Given the description of an element on the screen output the (x, y) to click on. 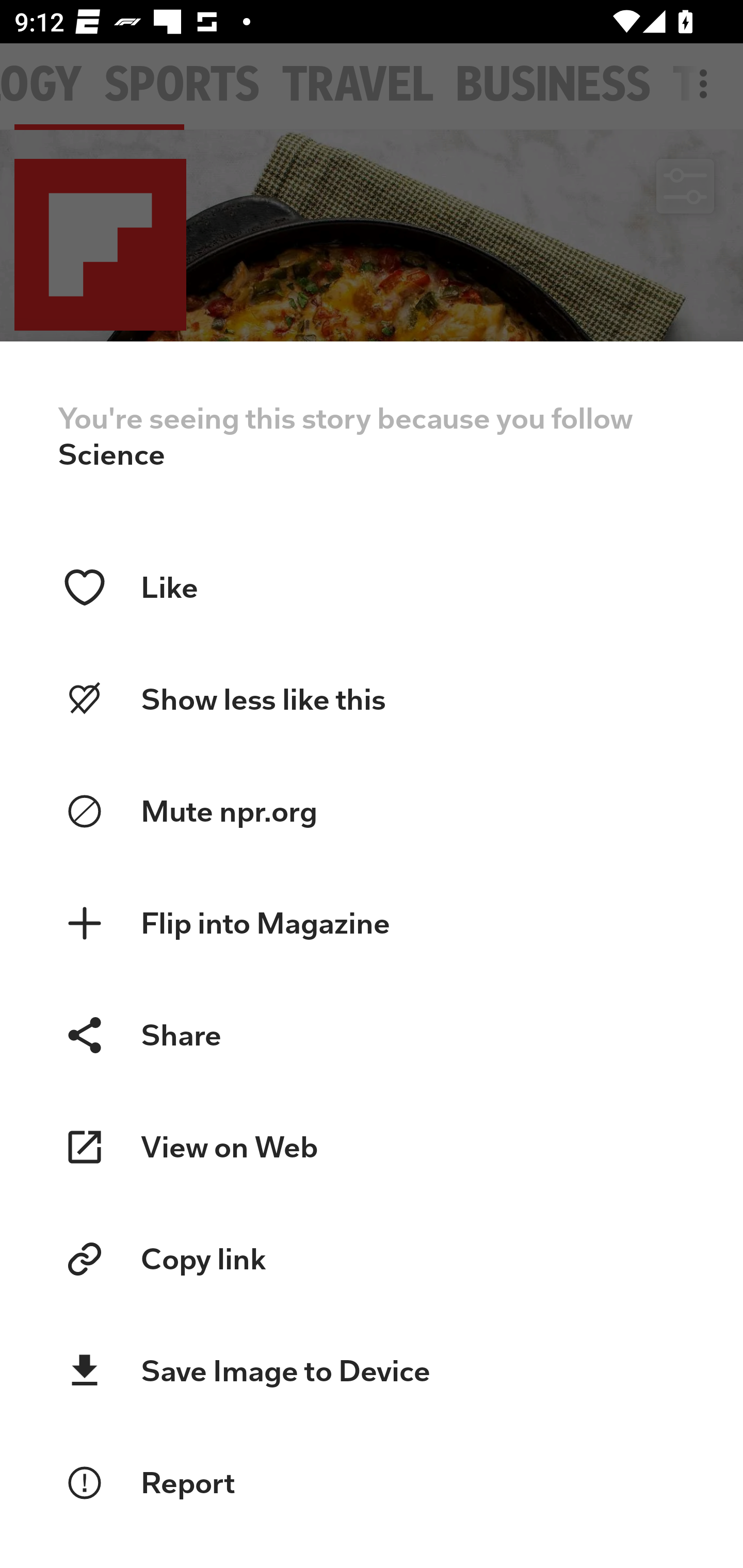
Like (371, 587)
Show less like this (371, 699)
Mute npr.org (371, 811)
Flip into Magazine (371, 923)
Share (371, 1035)
View on Web (371, 1146)
Copy link (371, 1258)
Save Image to Device (371, 1370)
Report (371, 1482)
